Given the description of an element on the screen output the (x, y) to click on. 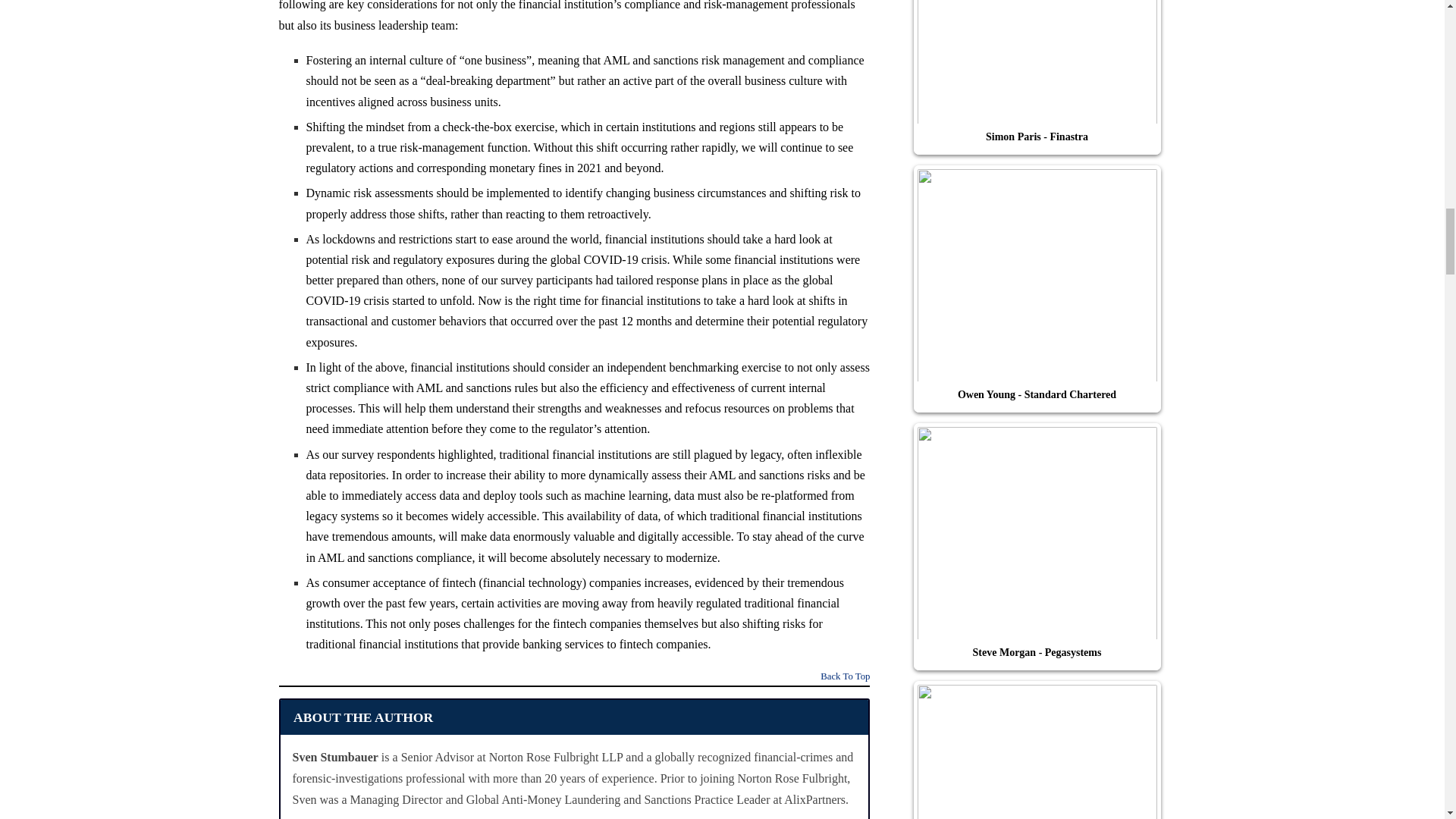
Back To Top (845, 678)
